Given the description of an element on the screen output the (x, y) to click on. 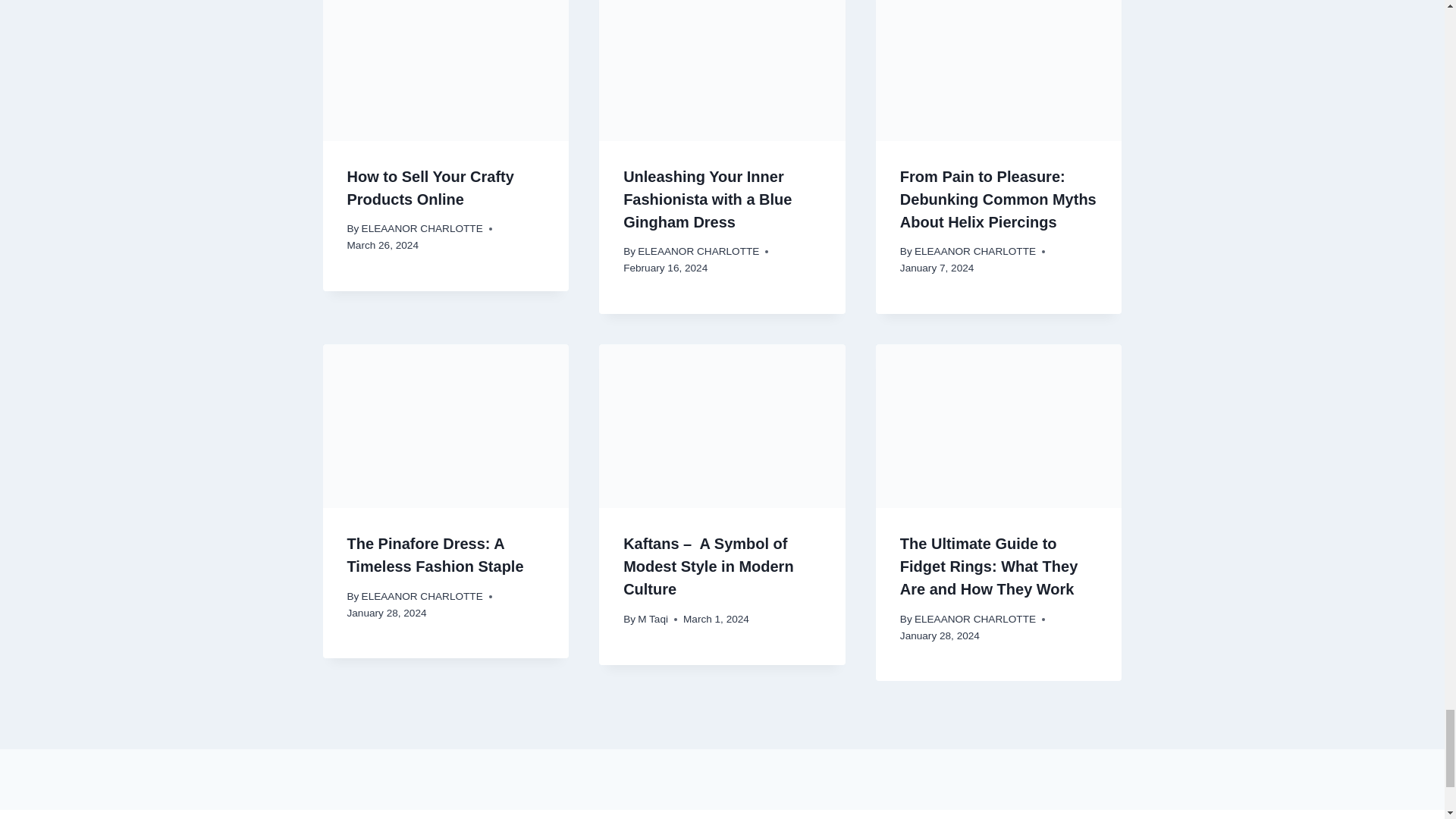
ELEAANOR CHARLOTTE (422, 595)
Unleashing Your Inner Fashionista with a Blue Gingham Dress (707, 199)
How to Sell Your Crafty Products Online (430, 188)
ELEAANOR CHARLOTTE (422, 228)
The Pinafore Dress: A Timeless Fashion Staple (435, 554)
ELEAANOR CHARLOTTE (974, 251)
ELEAANOR CHARLOTTE (697, 251)
